Given the description of an element on the screen output the (x, y) to click on. 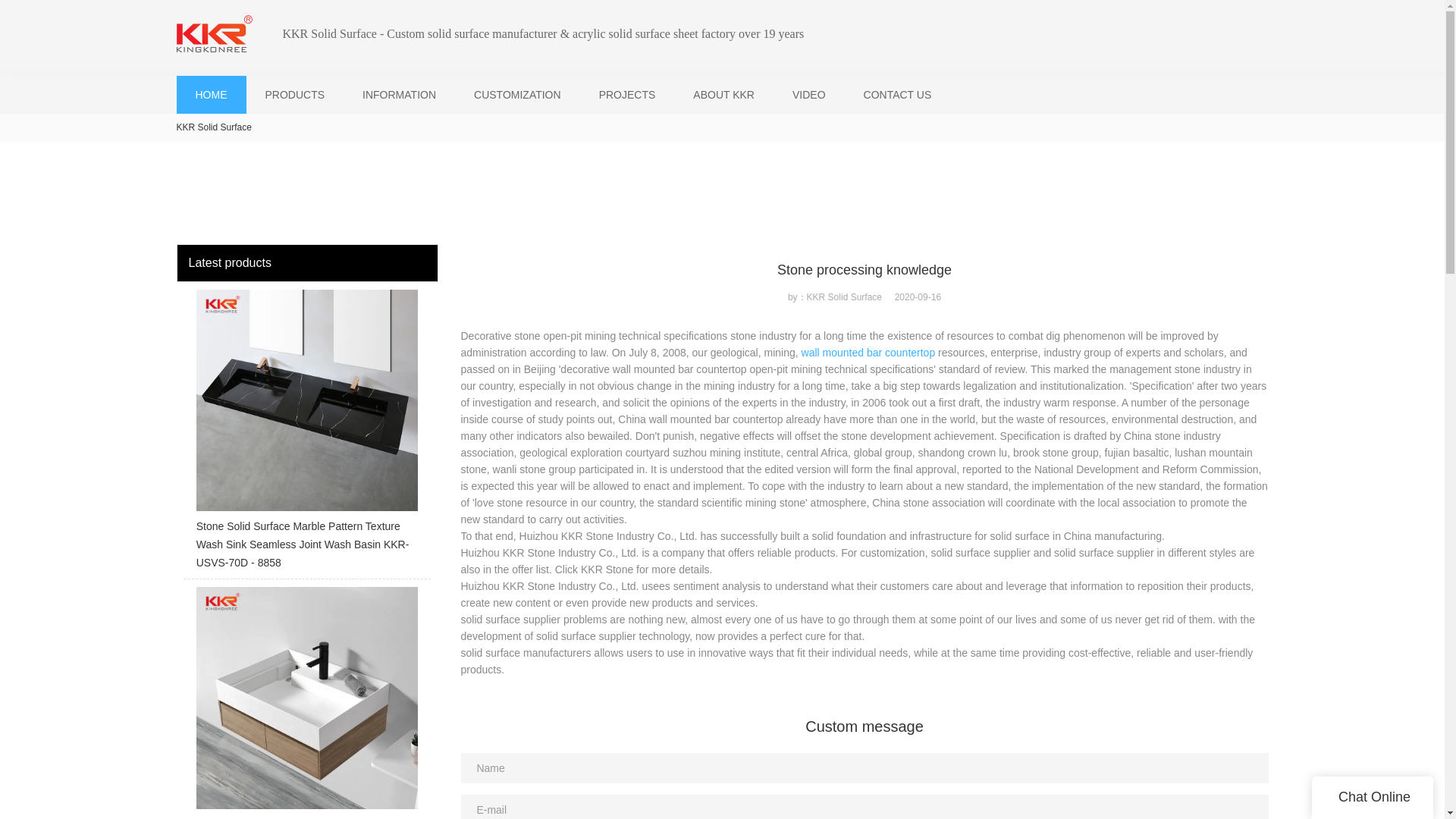
CONTACT US (897, 94)
ABOUT KKR (723, 94)
PROJECTS (627, 94)
PRODUCTS (294, 94)
INFORMATION (398, 94)
VIDEO (808, 94)
HOME (211, 94)
KKR Solid Surface (213, 127)
wall mounted bar countertop (869, 352)
